Given the description of an element on the screen output the (x, y) to click on. 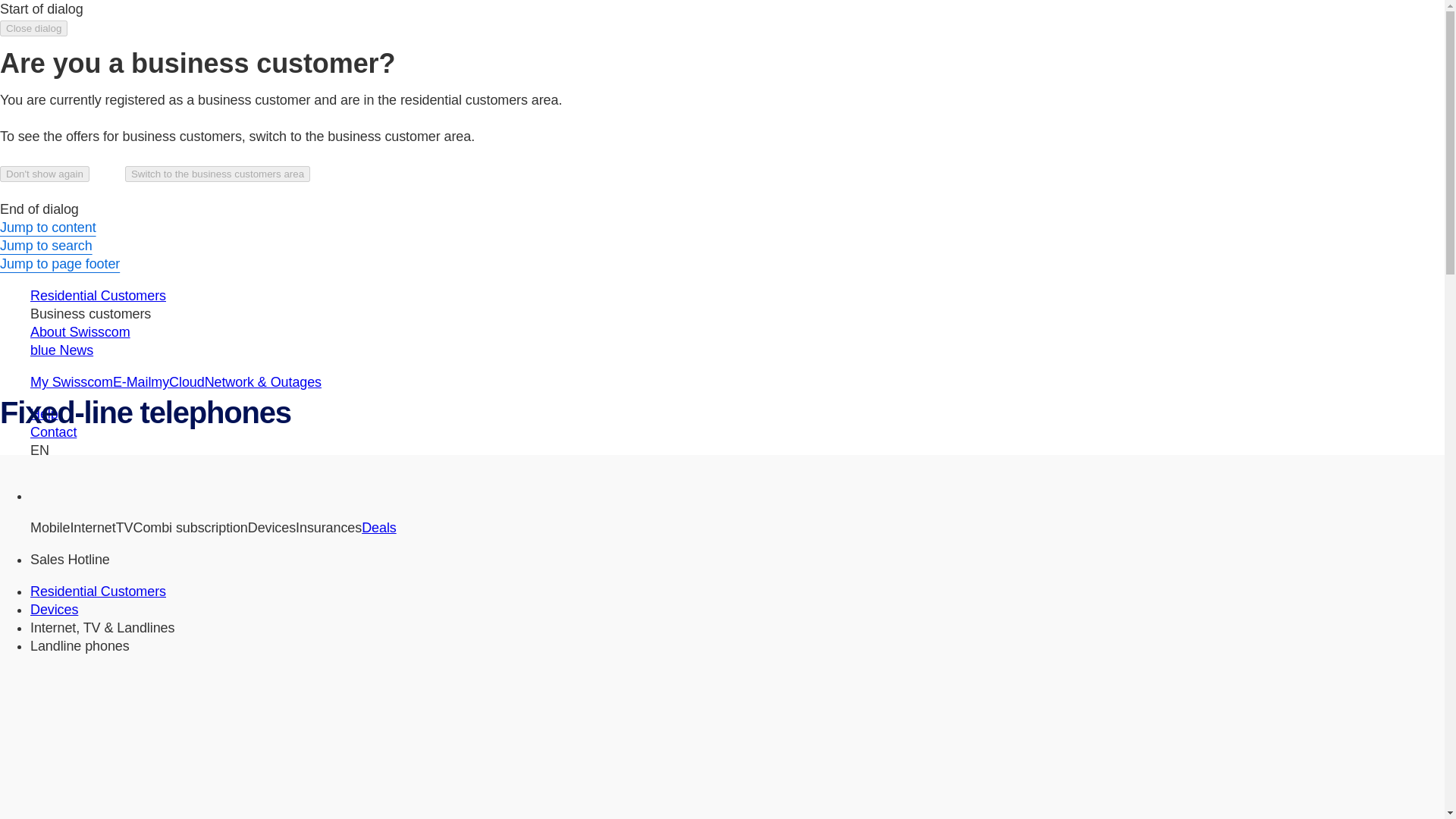
Jump to search (46, 245)
Jump to content (48, 227)
Jump to page footer (59, 263)
